Given the description of an element on the screen output the (x, y) to click on. 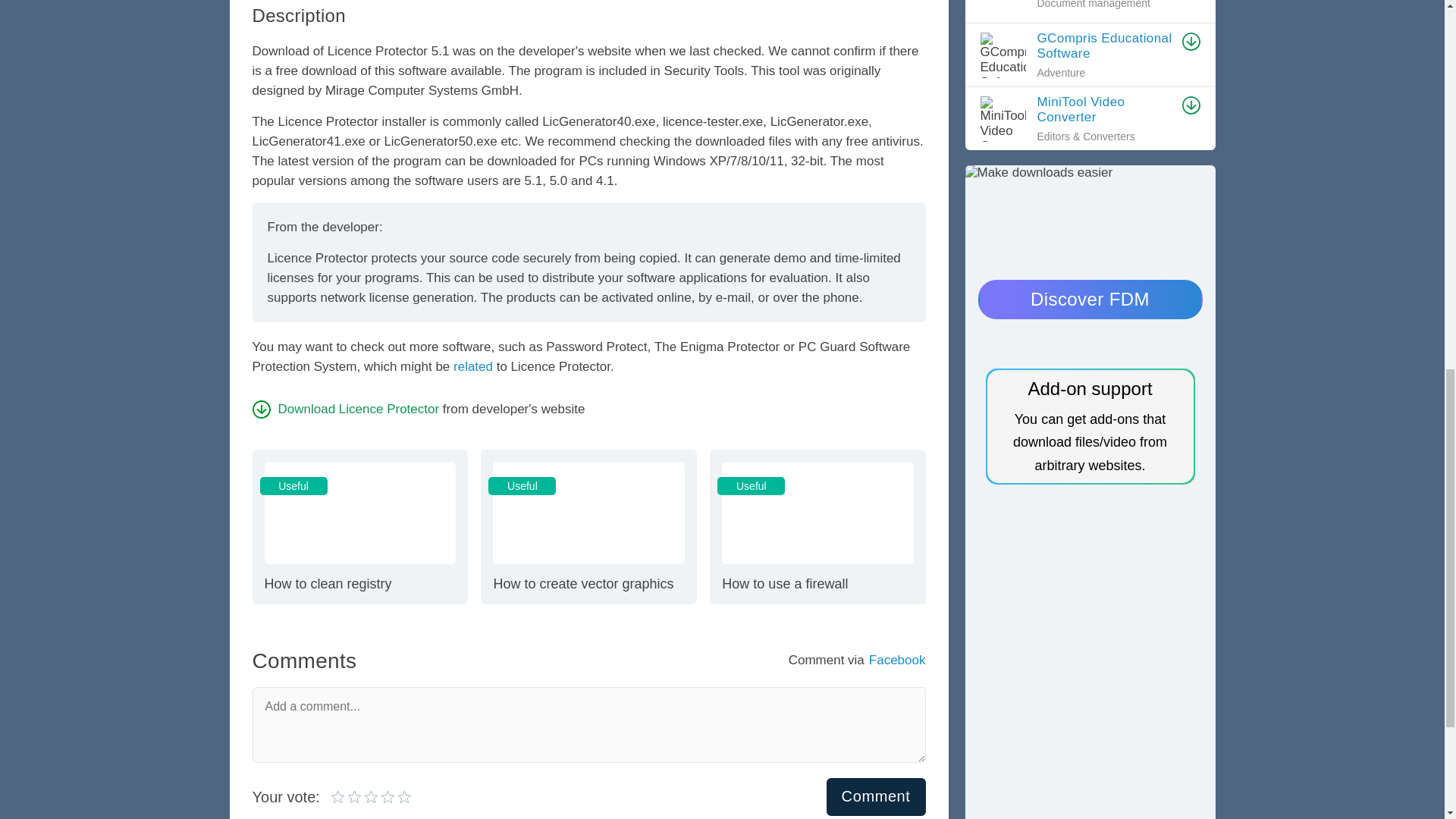
2 (346, 796)
Comment (876, 796)
3 (355, 796)
4 (359, 525)
Comment (363, 796)
Download Licence Protector (876, 796)
5 (817, 525)
